Given the description of an element on the screen output the (x, y) to click on. 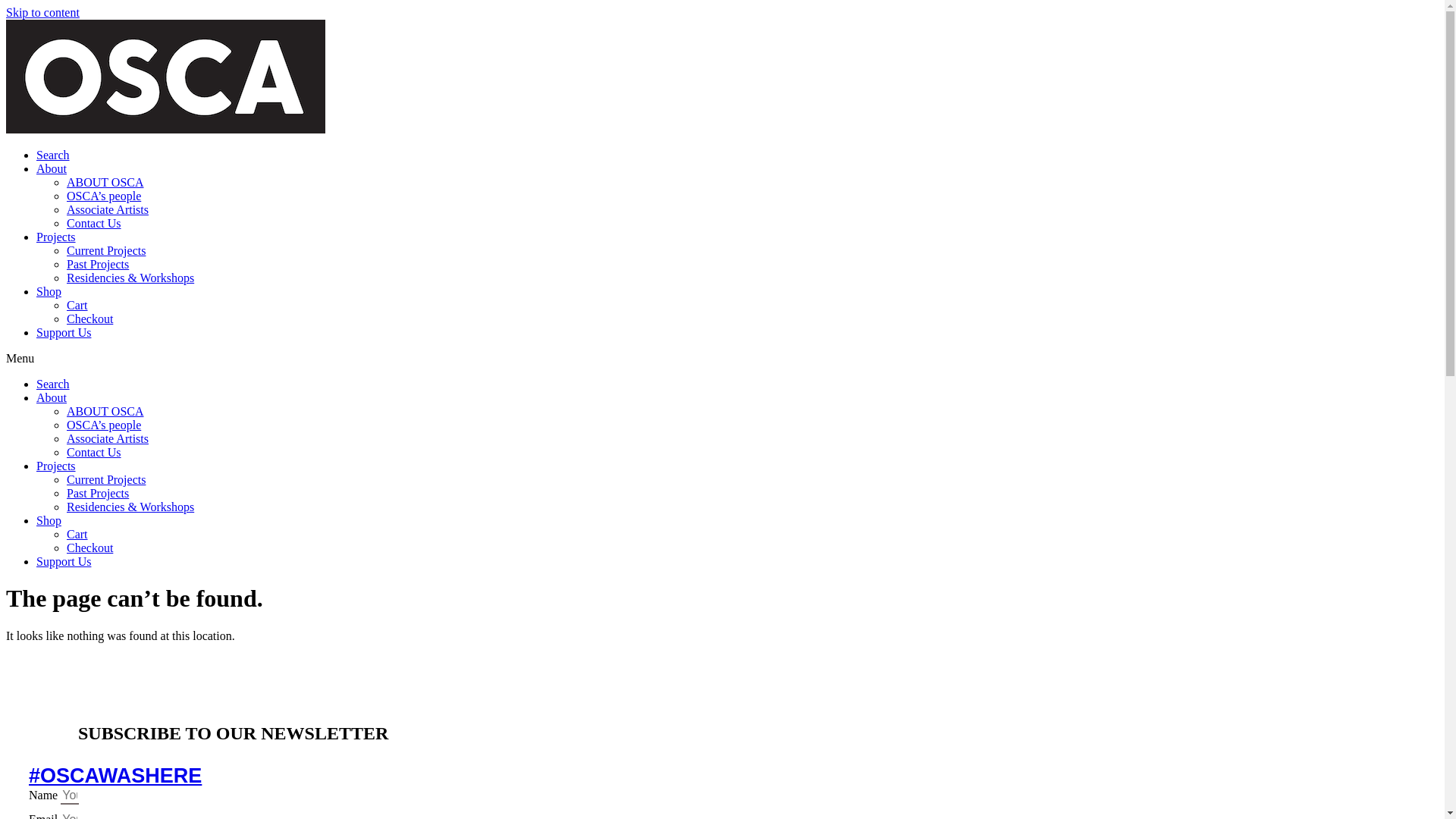
Shop Element type: text (48, 520)
Shop Element type: text (48, 291)
Cart Element type: text (76, 533)
Projects Element type: text (55, 465)
About Element type: text (51, 168)
ABOUT OSCA Element type: text (105, 410)
Search Element type: text (52, 383)
Current Projects Element type: text (105, 479)
Contact Us Element type: text (93, 451)
Past Projects Element type: text (97, 263)
Current Projects Element type: text (105, 250)
Past Projects Element type: text (97, 492)
Residencies & Workshops Element type: text (130, 506)
Projects Element type: text (55, 236)
#OSCAWASHERE Element type: text (114, 775)
OSCA Element type: hover (165, 76)
Associate Artists Element type: text (107, 438)
Associate Artists Element type: text (107, 209)
Support Us Element type: text (63, 332)
Skip to content Element type: text (42, 12)
Support Us Element type: text (63, 561)
Search Element type: text (52, 154)
Residencies & Workshops Element type: text (130, 277)
Cart Element type: text (76, 304)
Checkout Element type: text (89, 318)
Contact Us Element type: text (93, 222)
About Element type: text (51, 397)
Checkout Element type: text (89, 547)
ABOUT OSCA Element type: text (105, 181)
